Given the description of an element on the screen output the (x, y) to click on. 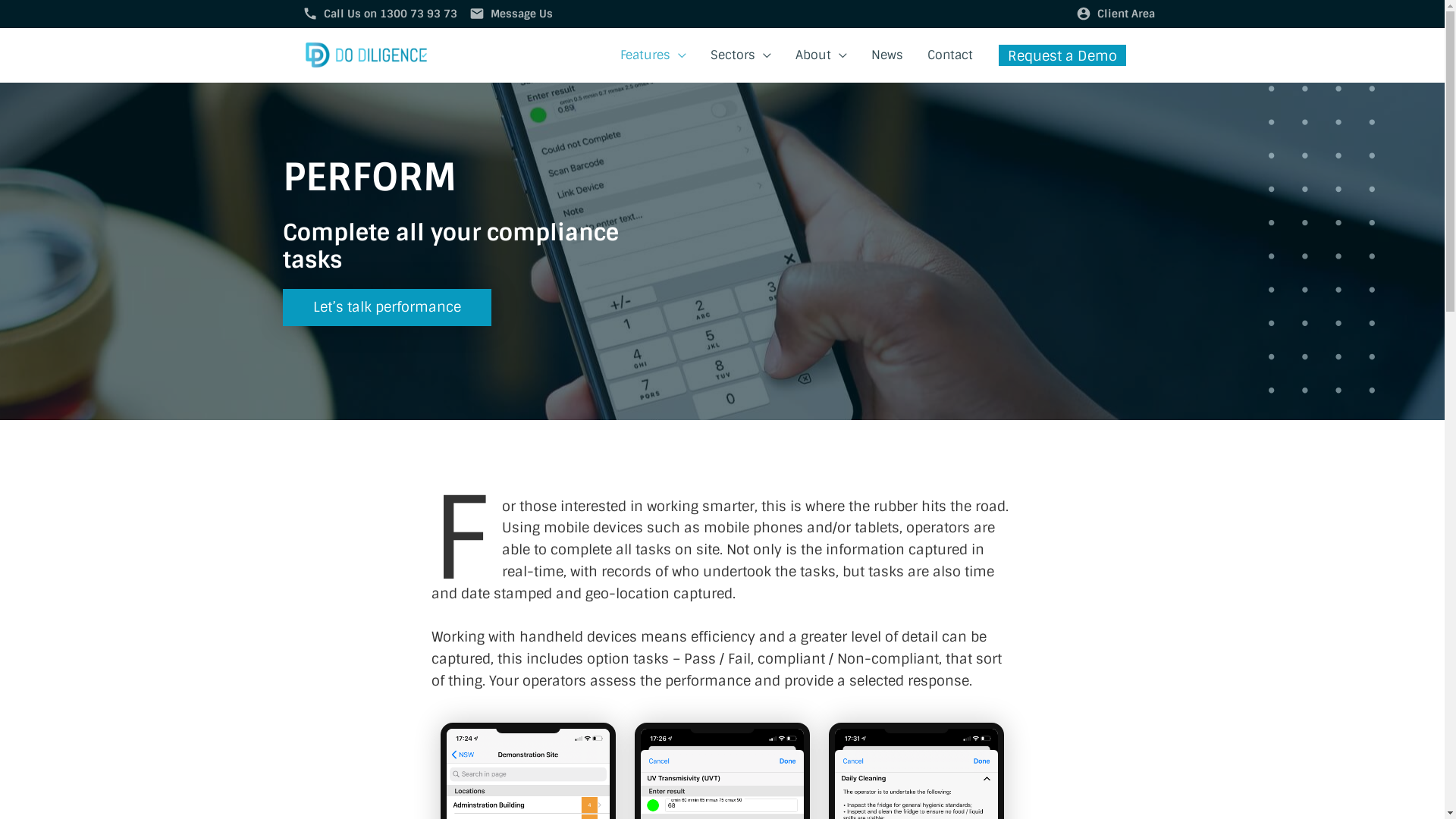
Features Element type: text (653, 55)
Message Us Element type: text (520, 14)
News Element type: text (886, 55)
Sectors Element type: text (739, 55)
Contact Element type: text (949, 55)
Client Area Element type: text (1125, 14)
About Element type: text (820, 55)
Call Us on 1300 73 93 73 Element type: text (389, 14)
Request a Demo Element type: text (1061, 54)
